Given the description of an element on the screen output the (x, y) to click on. 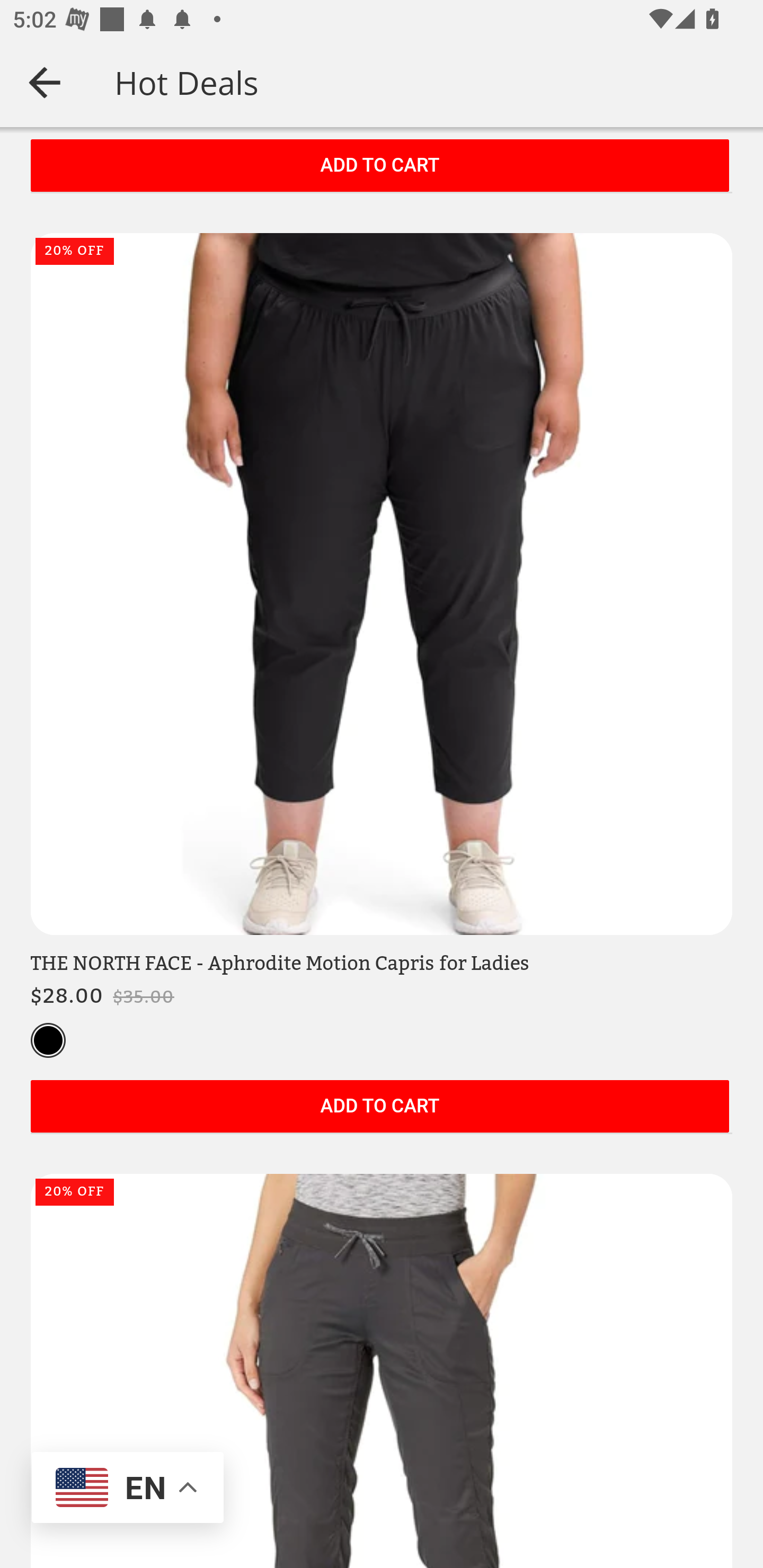
Navigate up (44, 82)
ADD TO CART (379, 166)
Black (48, 1041)
ADD TO CART (379, 1107)
